Given the description of an element on the screen output the (x, y) to click on. 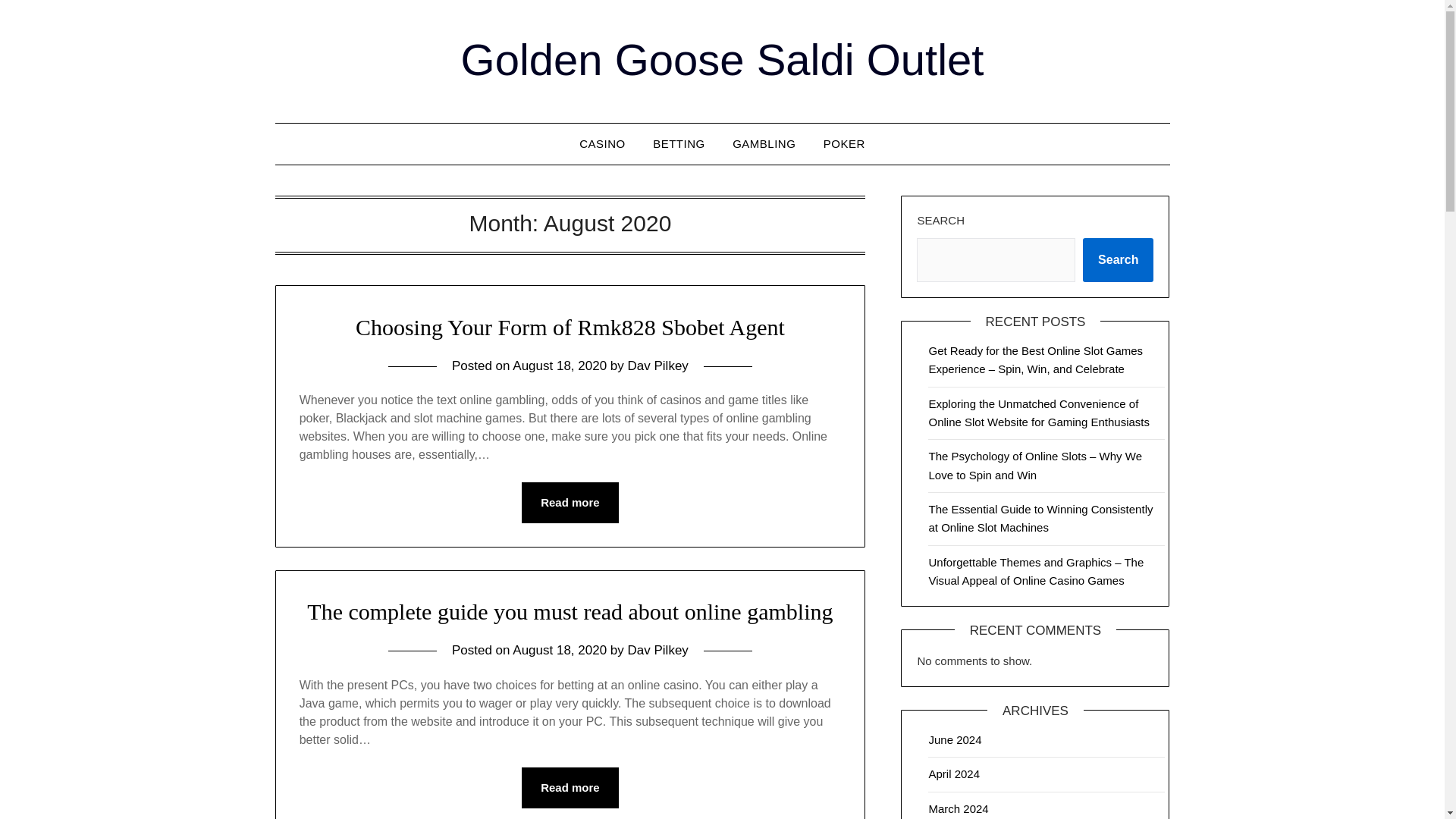
CASINO (602, 143)
August 18, 2020 (559, 649)
BETTING (678, 143)
Read more (569, 502)
Dav Pilkey (657, 649)
Read more (569, 787)
Choosing Your Form of Rmk828 Sbobet Agent (569, 326)
GAMBLING (764, 143)
POKER (843, 143)
Golden Goose Saldi Outlet (722, 59)
The complete guide you must read about online gambling (569, 611)
August 18, 2020 (559, 365)
Dav Pilkey (657, 365)
